Given the description of an element on the screen output the (x, y) to click on. 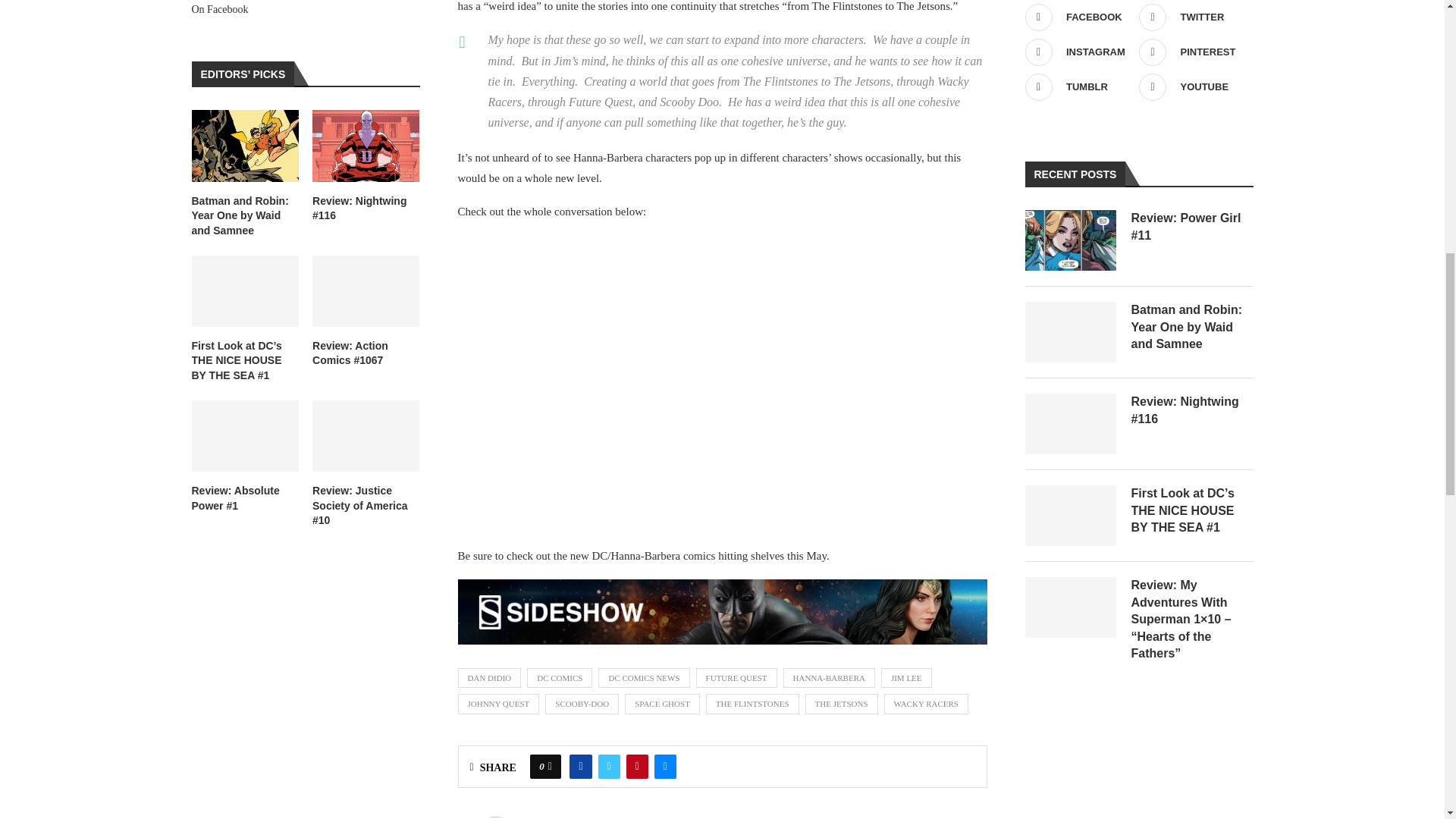
Author Joshua Raynor (594, 817)
